Given the description of an element on the screen output the (x, y) to click on. 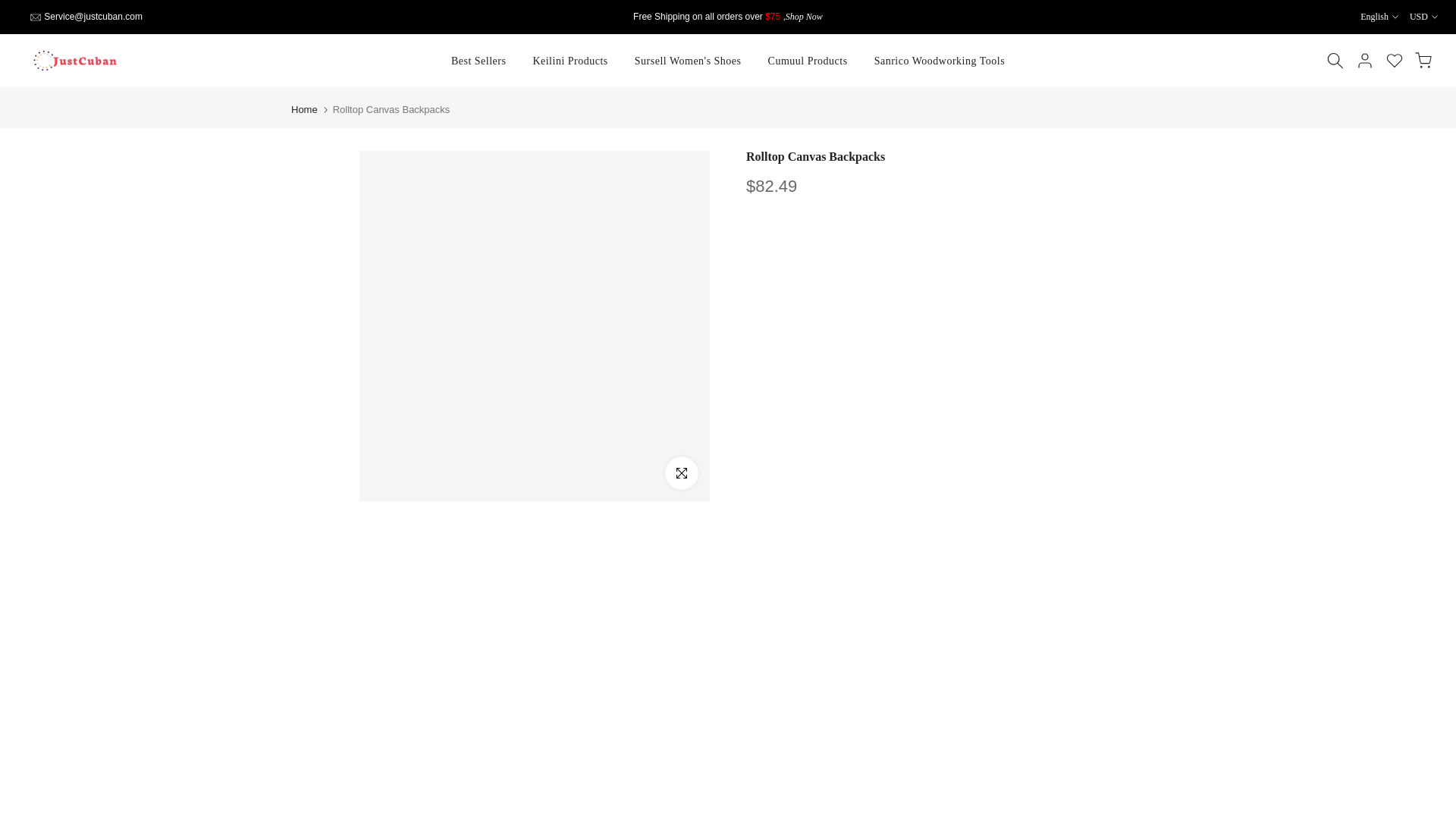
Skip to content (10, 7)
Best Sellers (478, 61)
Shop Now (804, 16)
All collections (804, 16)
Keilini Products (570, 61)
Sursell Women's Shoes (687, 61)
USD (1423, 16)
English (1378, 16)
Sanrico Woodworking Tools (938, 61)
Cumuul Products (807, 61)
